Given the description of an element on the screen output the (x, y) to click on. 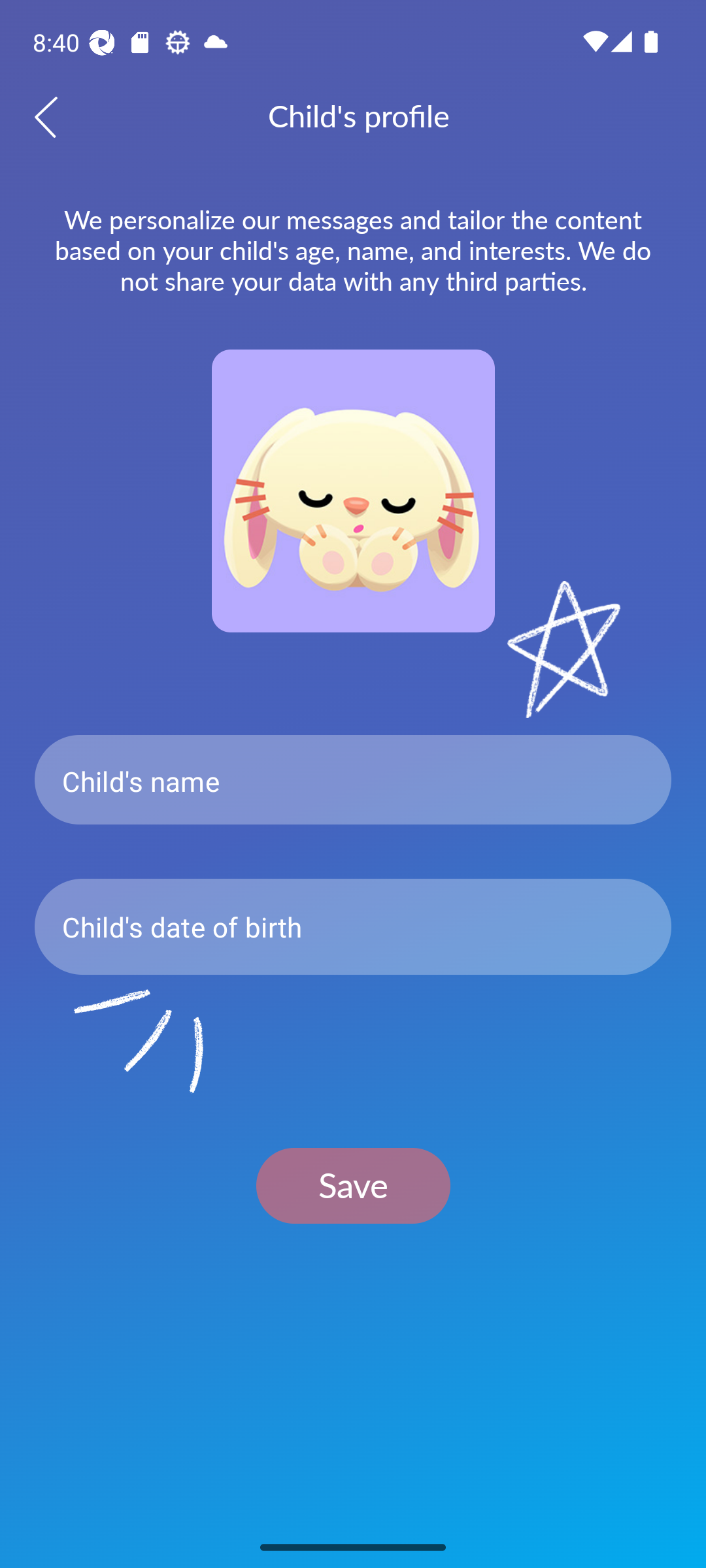
Child's name (352, 779)
Child's date of birth (352, 926)
Save (353, 1185)
